Given the description of an element on the screen output the (x, y) to click on. 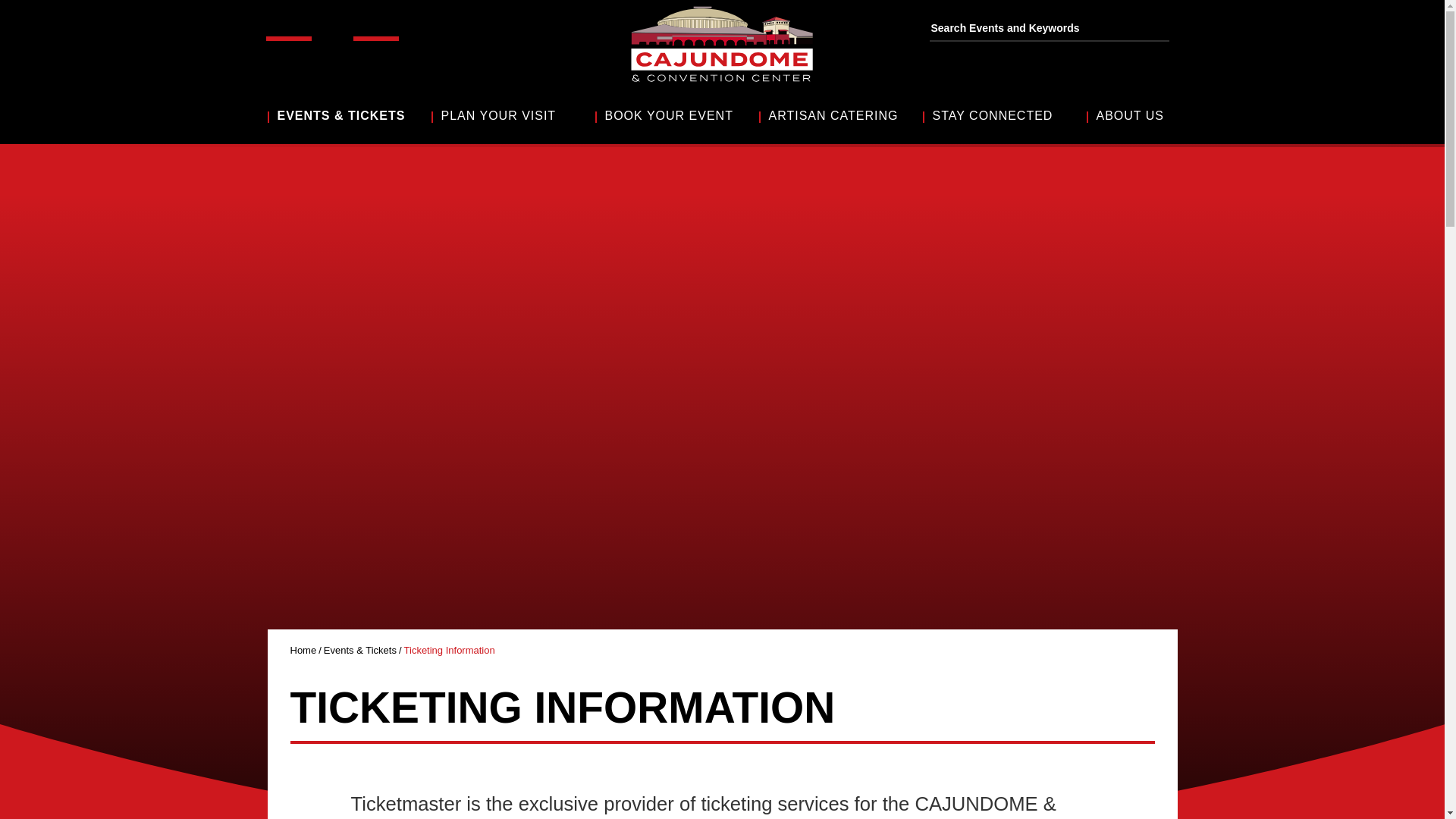
ARTISAN CATERING (839, 115)
PLAN YOUR VISIT (512, 115)
CAJUNDOME (721, 43)
BOOK YOUR EVENT (676, 115)
SEARCH (1168, 29)
